Given the description of an element on the screen output the (x, y) to click on. 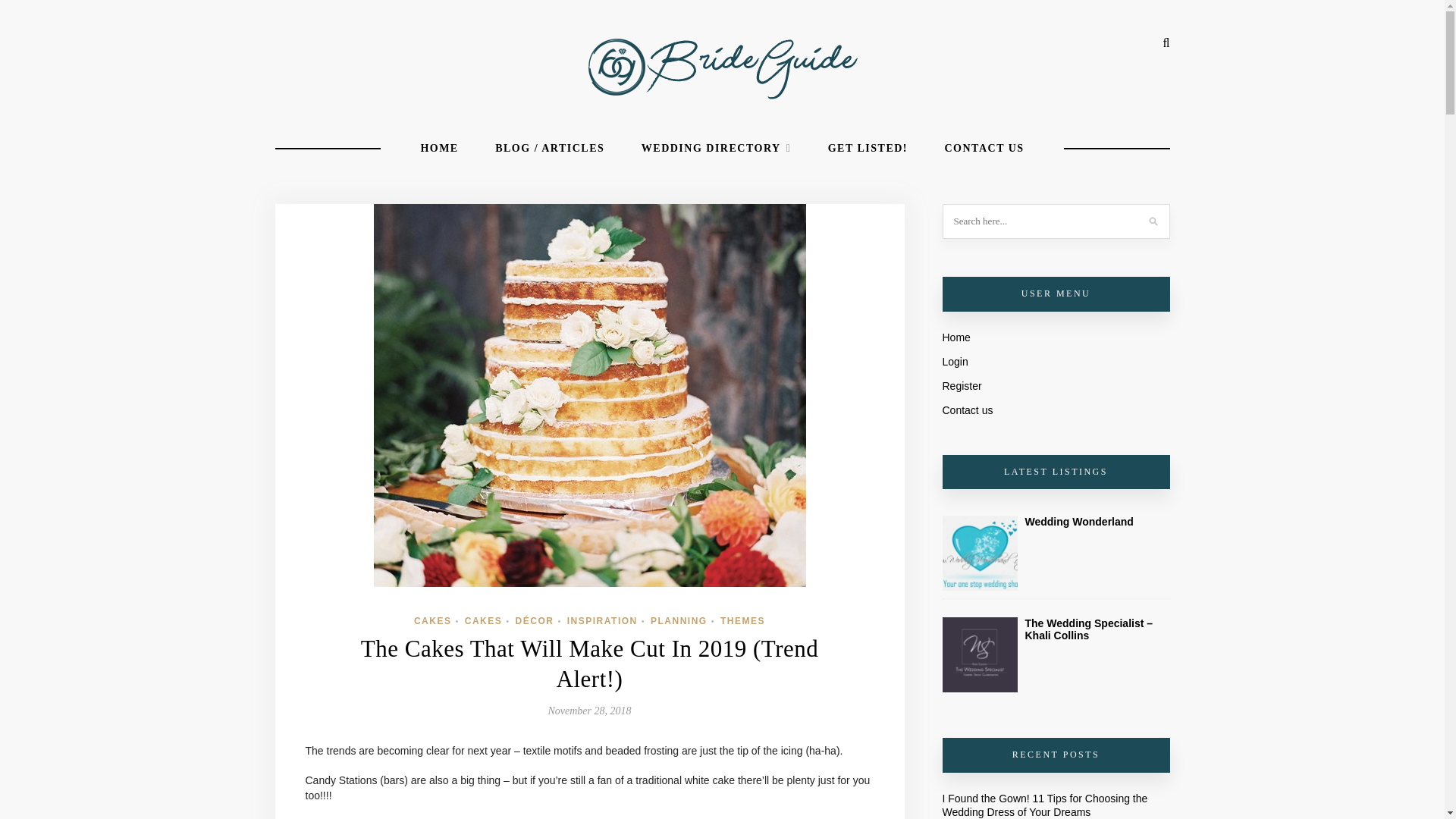
CONTACT US (984, 147)
GET LISTED! (867, 147)
WEDDING DIRECTORY (716, 147)
CAKES (432, 620)
HOME (439, 147)
